Given the description of an element on the screen output the (x, y) to click on. 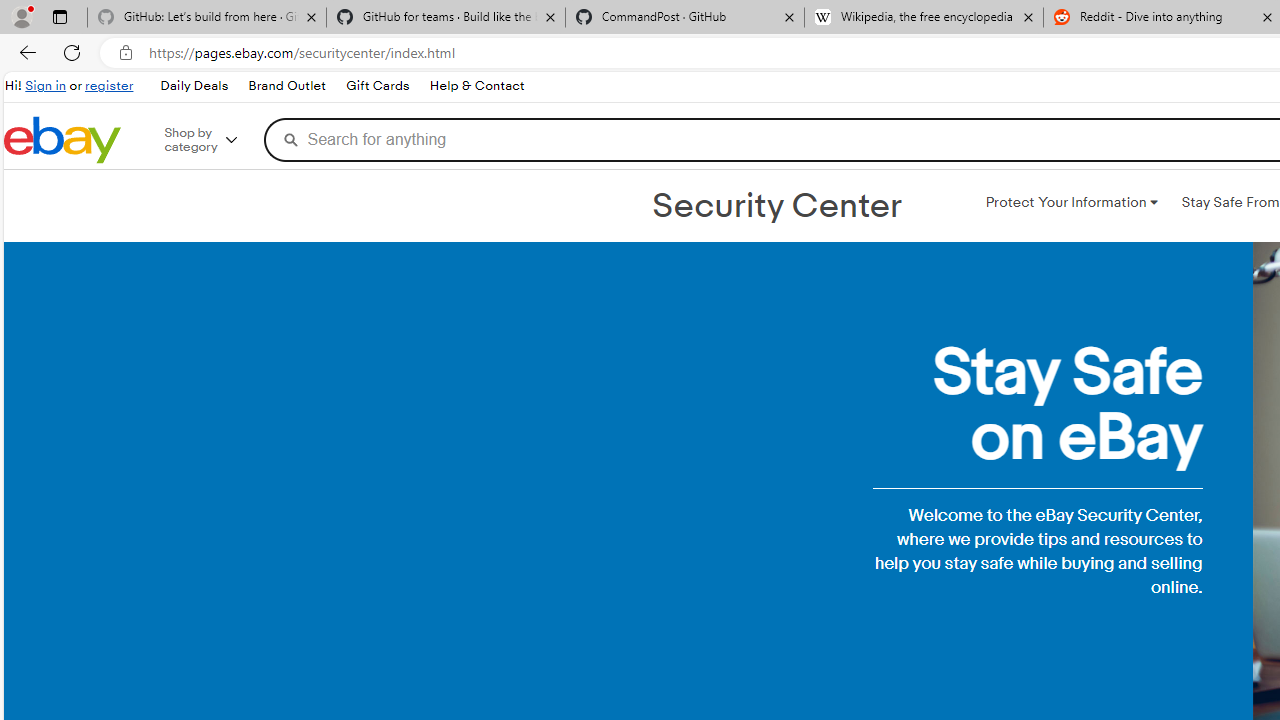
Protect Your Information  (1071, 202)
eBay Home (62, 139)
Daily Deals (194, 86)
Security Center (776, 206)
Sign in (45, 85)
Wikipedia, the free encyclopedia (924, 17)
Help & Contact (475, 85)
Gift Cards (376, 85)
Help & Contact (476, 86)
